Given the description of an element on the screen output the (x, y) to click on. 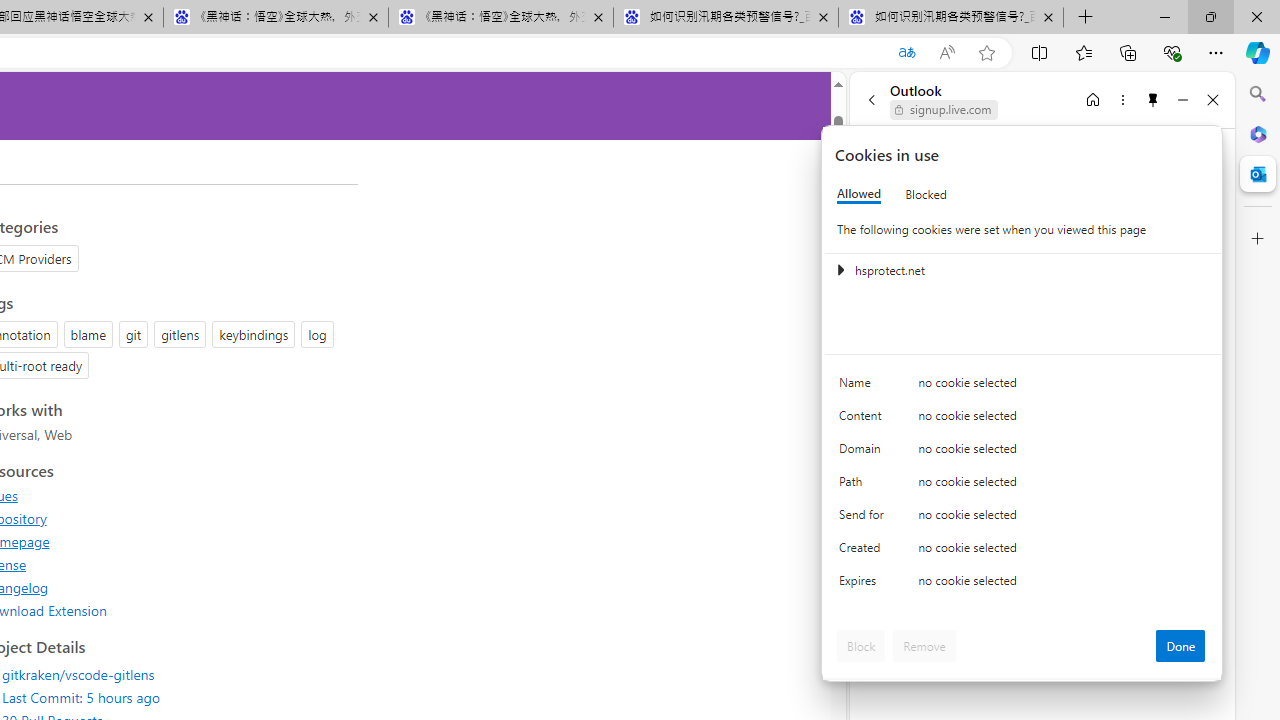
Expires (864, 585)
Class: c0153 c0157 (1023, 584)
Class: c0153 c0157 c0154 (1023, 386)
Created (864, 552)
Blocked (925, 193)
Block (861, 645)
Remove (924, 645)
Done (1179, 645)
Content (864, 420)
Allowed (859, 193)
Domain (864, 452)
Name (864, 387)
Path (864, 485)
no cookie selected (1062, 585)
Send for (864, 518)
